Given the description of an element on the screen output the (x, y) to click on. 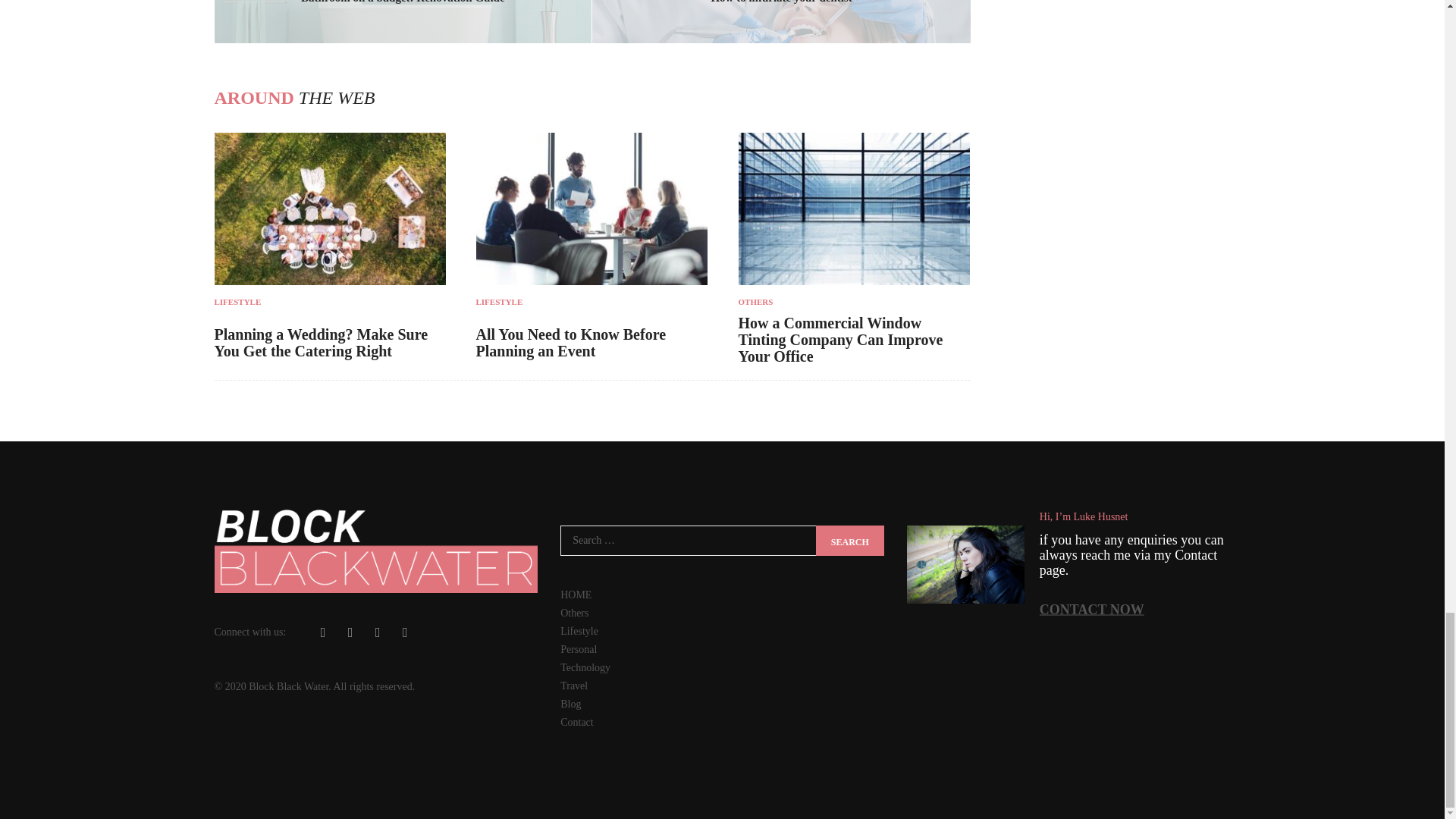
LIFESTYLE (329, 301)
Bathroom on a budget: Renovation Guide (403, 2)
How to infuriate your dentist (780, 2)
